Given the description of an element on the screen output the (x, y) to click on. 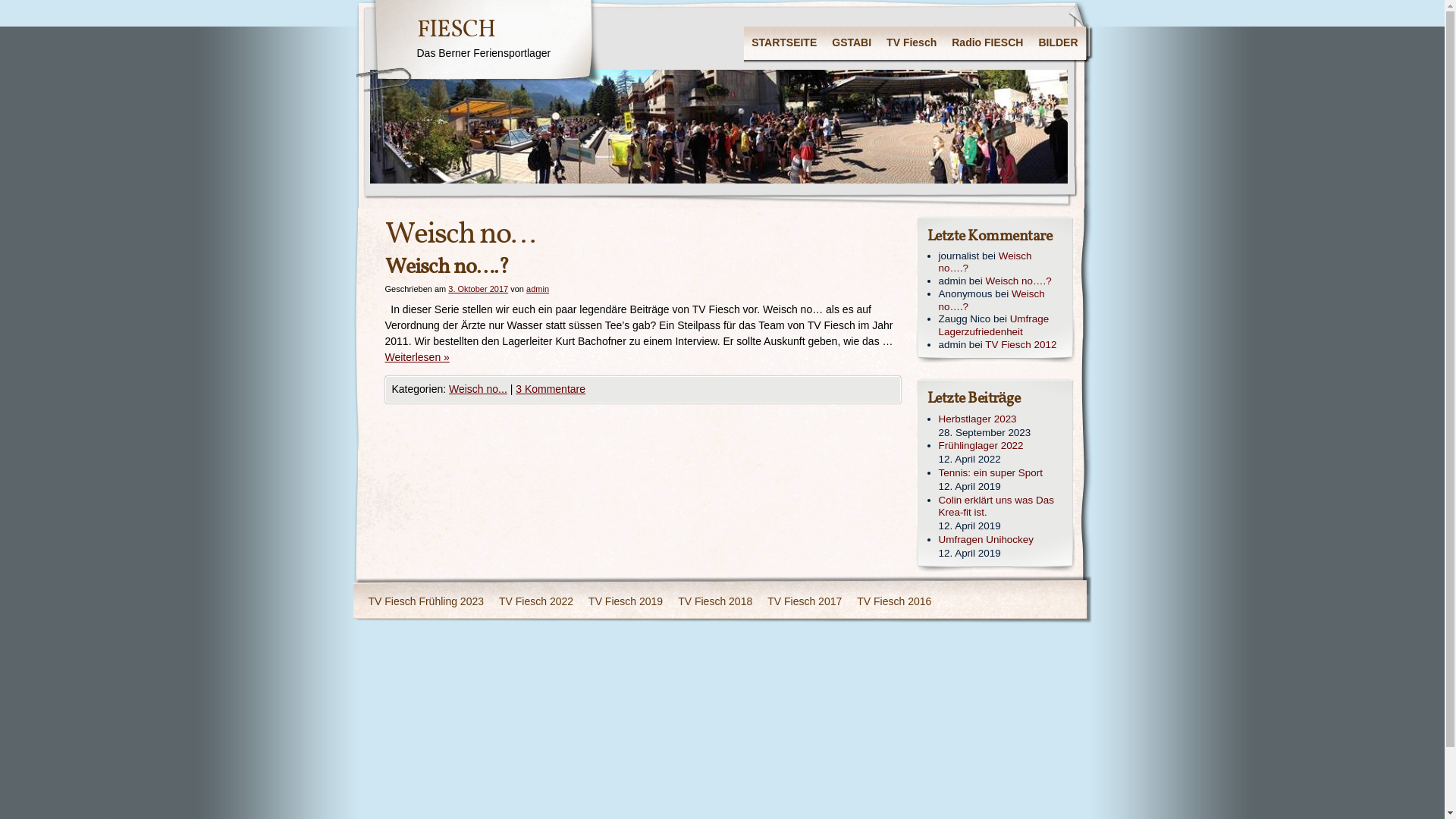
Herbstlager 2023 Element type: text (1000, 419)
TV Fiesch Element type: text (911, 42)
STARTSEITE Element type: text (783, 42)
Umfrage Lagerzufriedenheit Element type: text (993, 325)
Umfragen Unihockey Element type: text (1000, 540)
TV Fiesch 2017 Element type: text (804, 602)
TV Fiesch 2019 Element type: text (625, 602)
BILDER Element type: text (1057, 42)
admin Element type: text (537, 287)
Weisch no... Element type: text (477, 388)
Radio FIESCH Element type: text (987, 42)
TV Fiesch 2016 Element type: text (893, 602)
TV Fiesch 2018 Element type: text (714, 602)
Tennis: ein super Sport Element type: text (1000, 473)
3 Kommentare Element type: text (550, 388)
GSTABI Element type: text (851, 42)
3. Oktober 2017 Element type: text (478, 287)
TV Fiesch 2022 Element type: text (535, 602)
FIESCH Element type: text (456, 30)
TV Fiesch 2012 Element type: text (1020, 344)
